Given the description of an element on the screen output the (x, y) to click on. 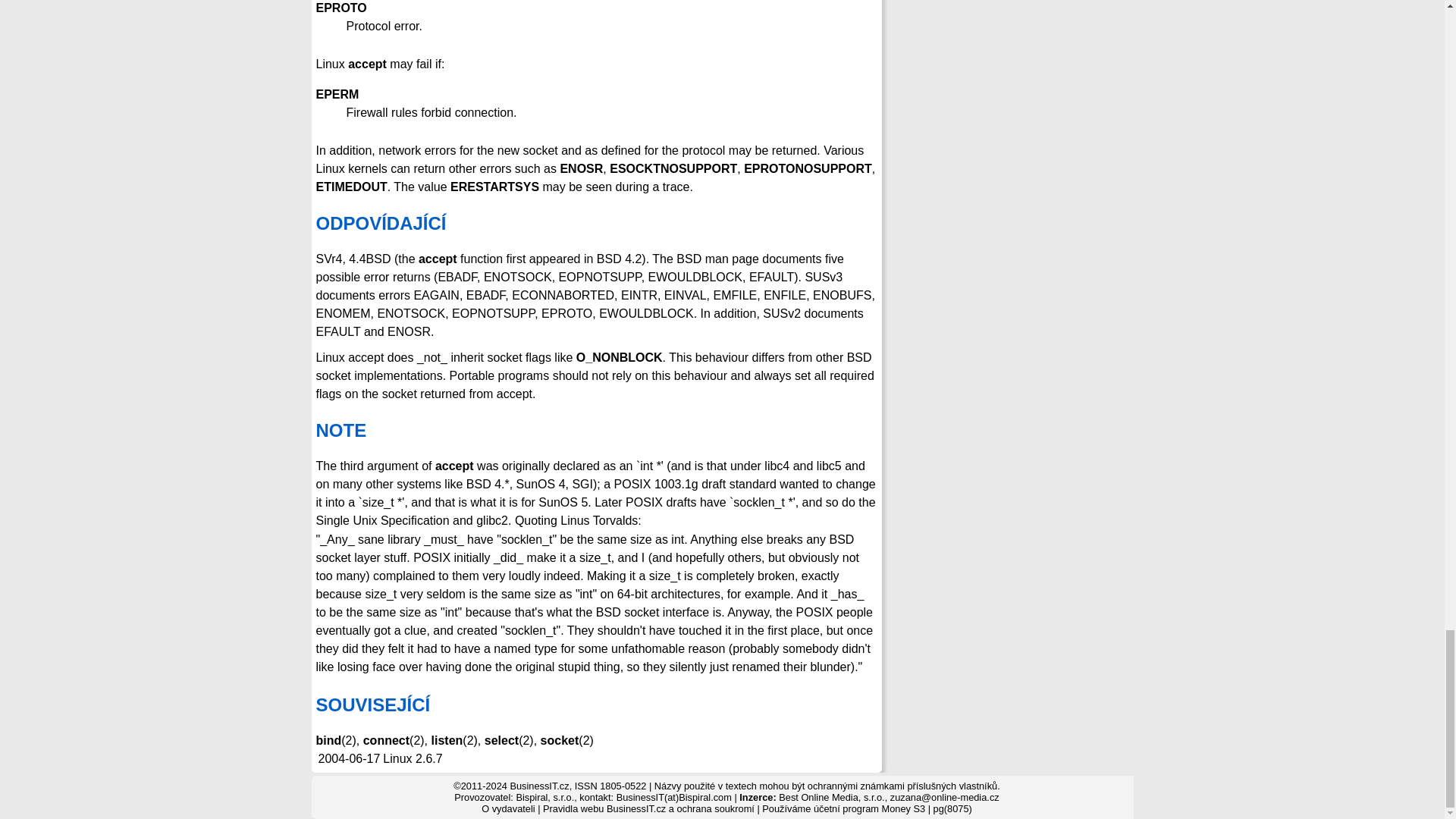
select (501, 739)
listen (446, 739)
Sh (595, 430)
Best Online Media, s.r.o. (830, 797)
Sh (595, 223)
connect (385, 739)
socket (559, 739)
NOTE (340, 430)
bind (327, 739)
Sh (595, 704)
